Given the description of an element on the screen output the (x, y) to click on. 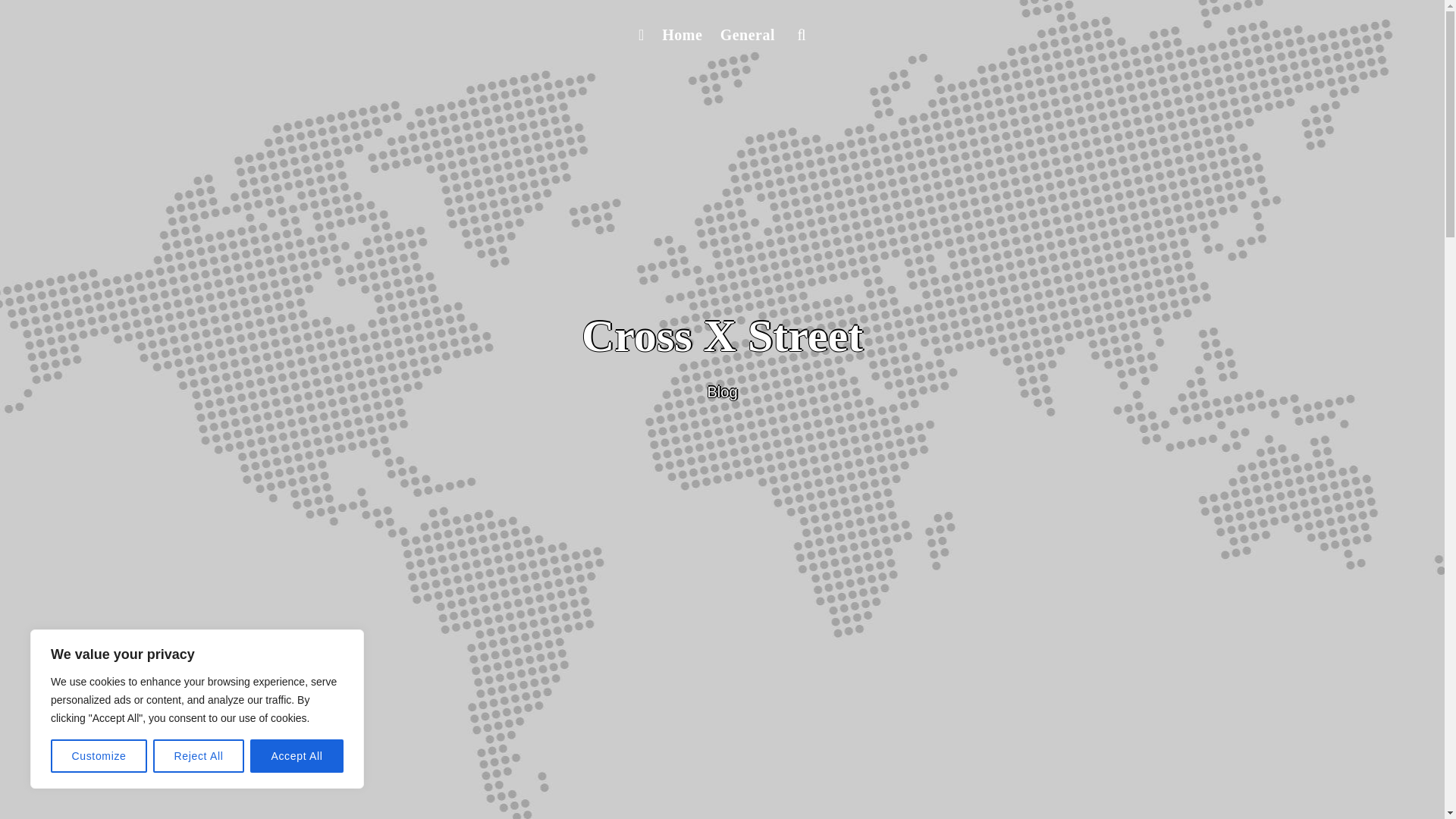
Reject All (198, 756)
Accept All (296, 756)
Home (681, 35)
General (747, 35)
Cross X Street (721, 336)
Customize (98, 756)
